Given the description of an element on the screen output the (x, y) to click on. 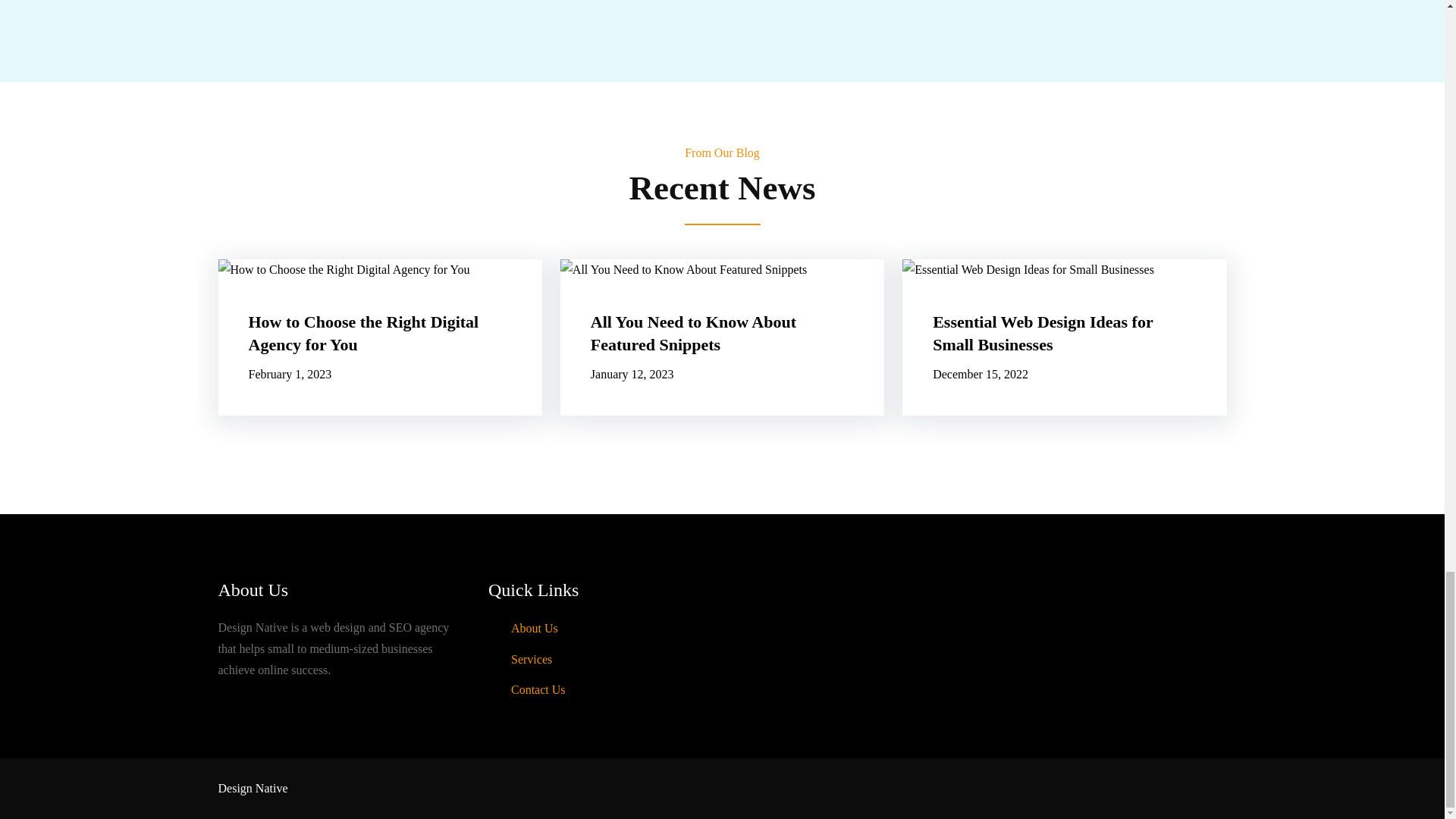
February 1, 2023 (289, 373)
All You Need to Know About Featured Snippets (722, 333)
Services (531, 658)
January 12, 2023 (632, 373)
Design Native (253, 788)
Contact Us (538, 689)
December 15, 2022 (980, 373)
About Us (534, 627)
How to Choose the Right Digital Agency for You (380, 333)
Essential Web Design Ideas for Small Businesses (1064, 333)
